Given the description of an element on the screen output the (x, y) to click on. 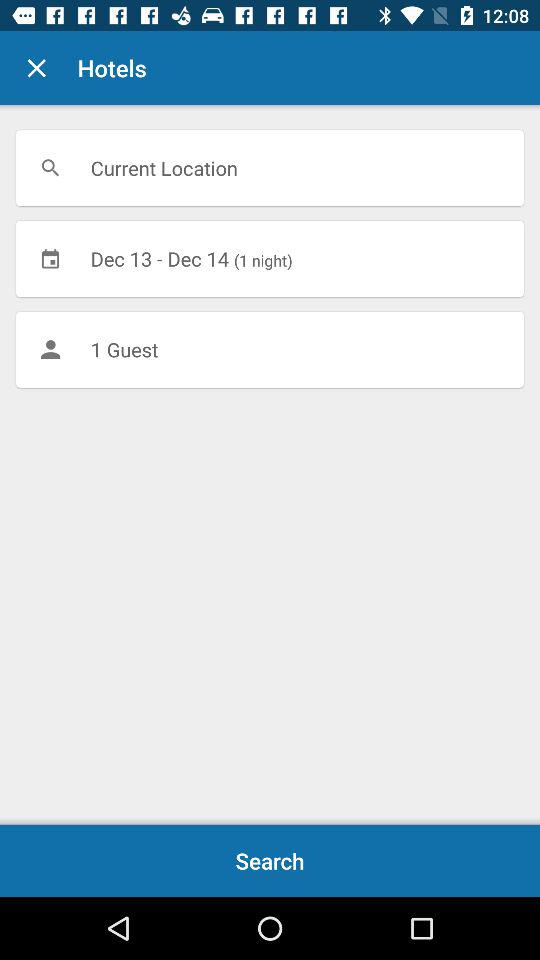
turn on the item above 1 guest (269, 258)
